Given the description of an element on the screen output the (x, y) to click on. 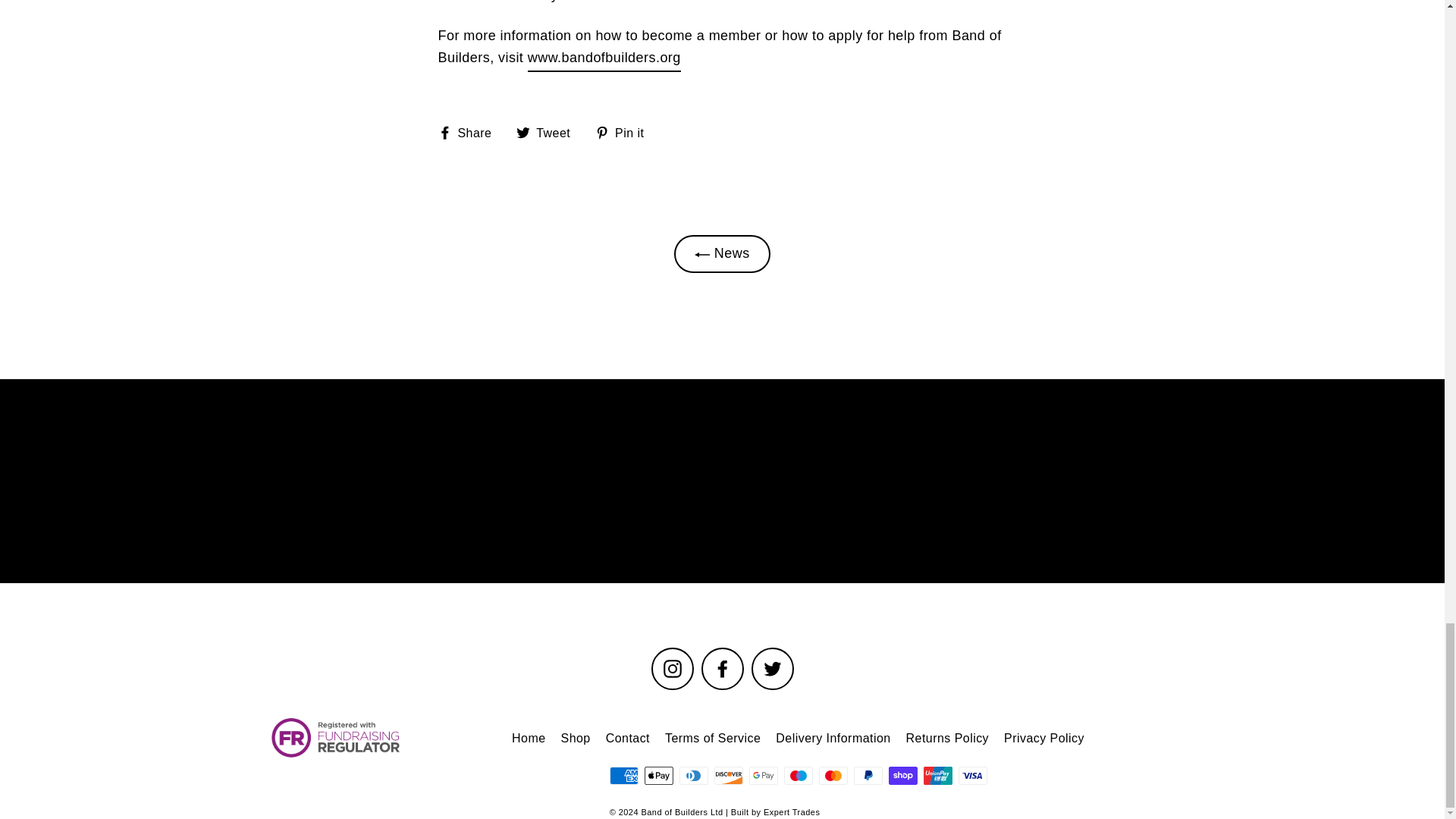
Mastercard (832, 775)
Pin on Pinterest (625, 132)
Shop Pay (902, 775)
Union Pay (937, 775)
American Express (624, 775)
PayPal (867, 775)
Google Pay (763, 775)
Discover (728, 775)
Diners Club (693, 775)
Maestro (798, 775)
